Given the description of an element on the screen output the (x, y) to click on. 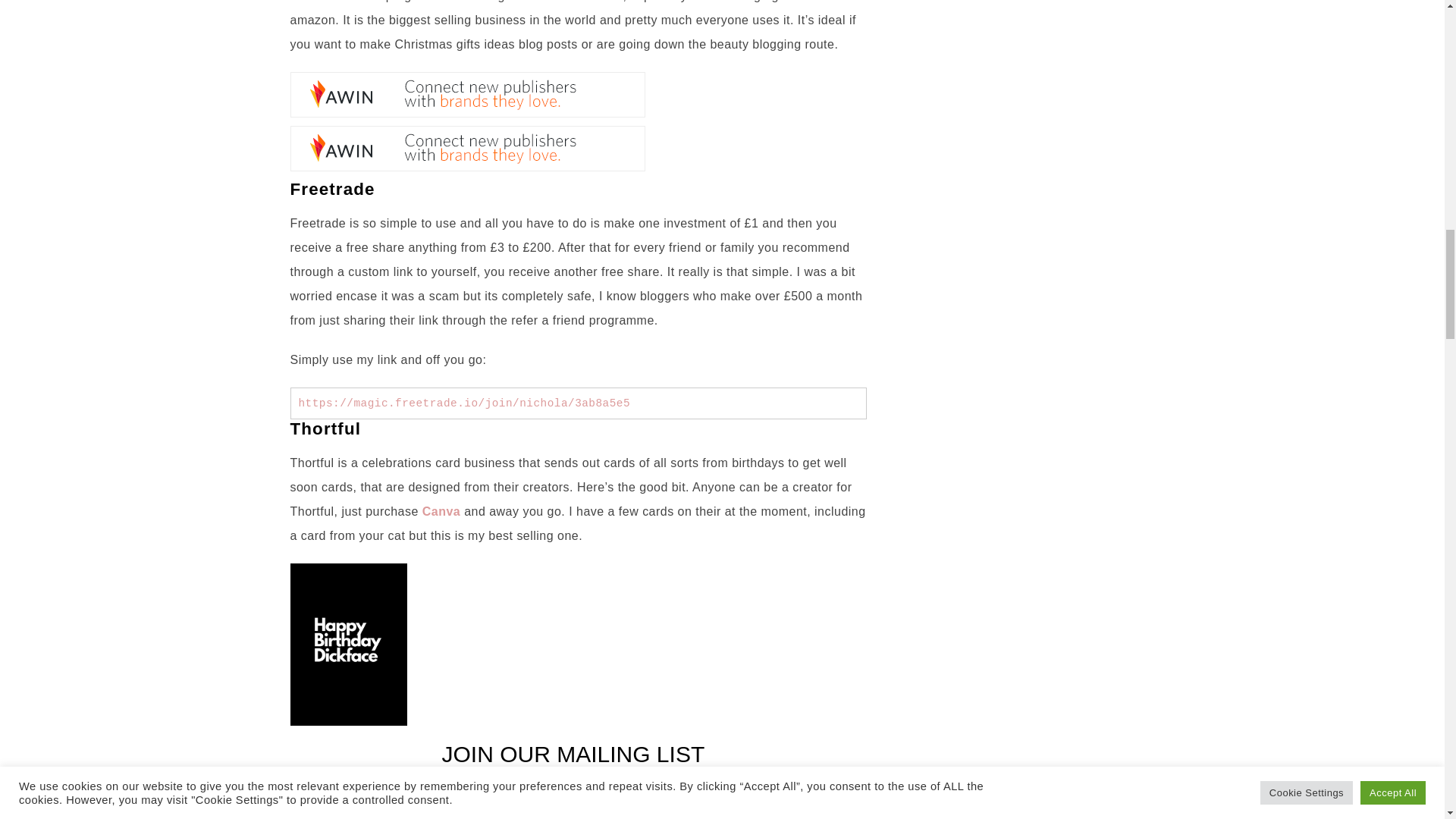
Canva (441, 511)
